Given the description of an element on the screen output the (x, y) to click on. 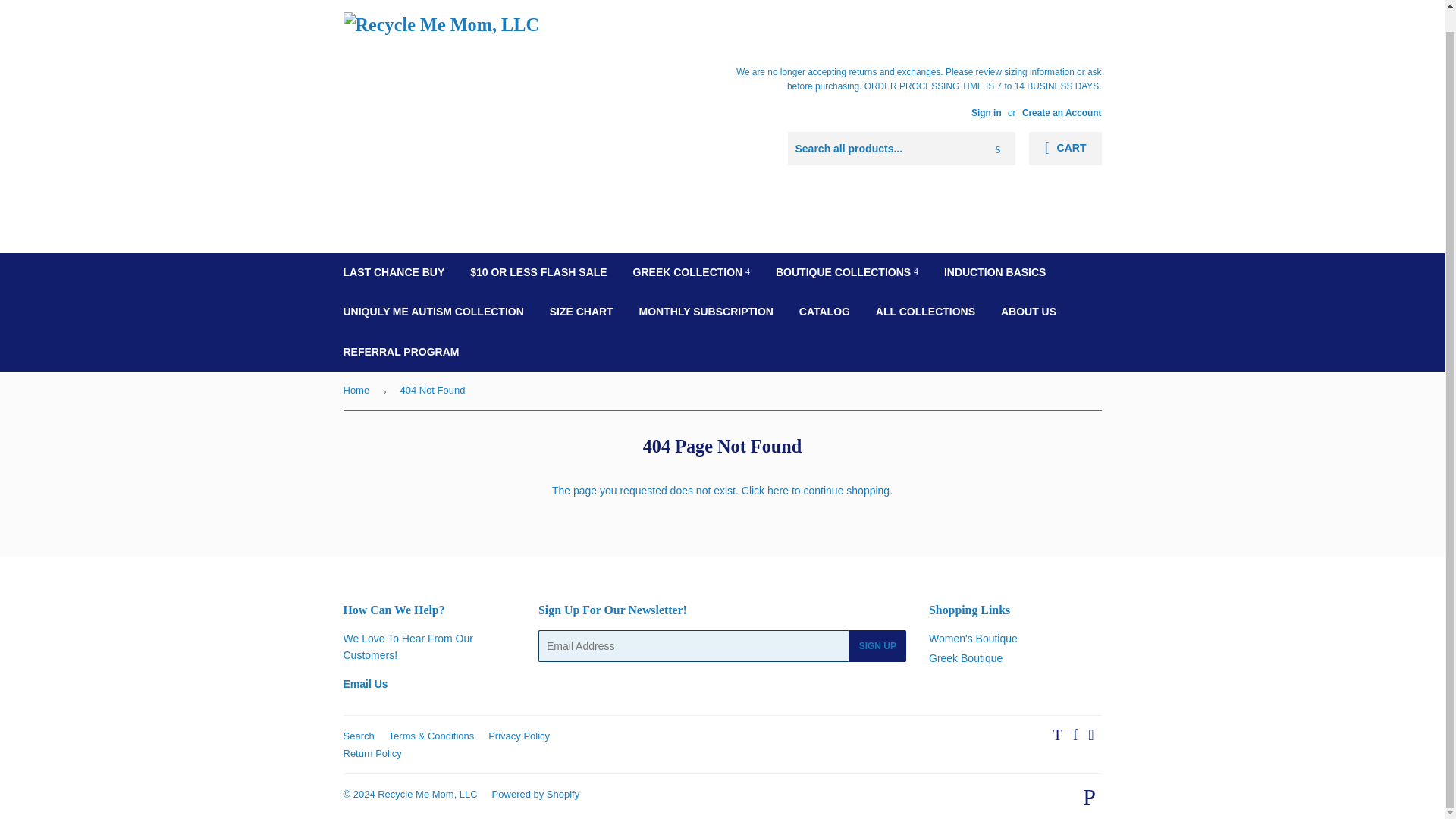
LAST CHANCE BUY (394, 271)
Search (997, 149)
GREEK COLLECTION (691, 271)
CART (1064, 148)
Create an Account (1062, 112)
Sign in (986, 112)
